Given the description of an element on the screen output the (x, y) to click on. 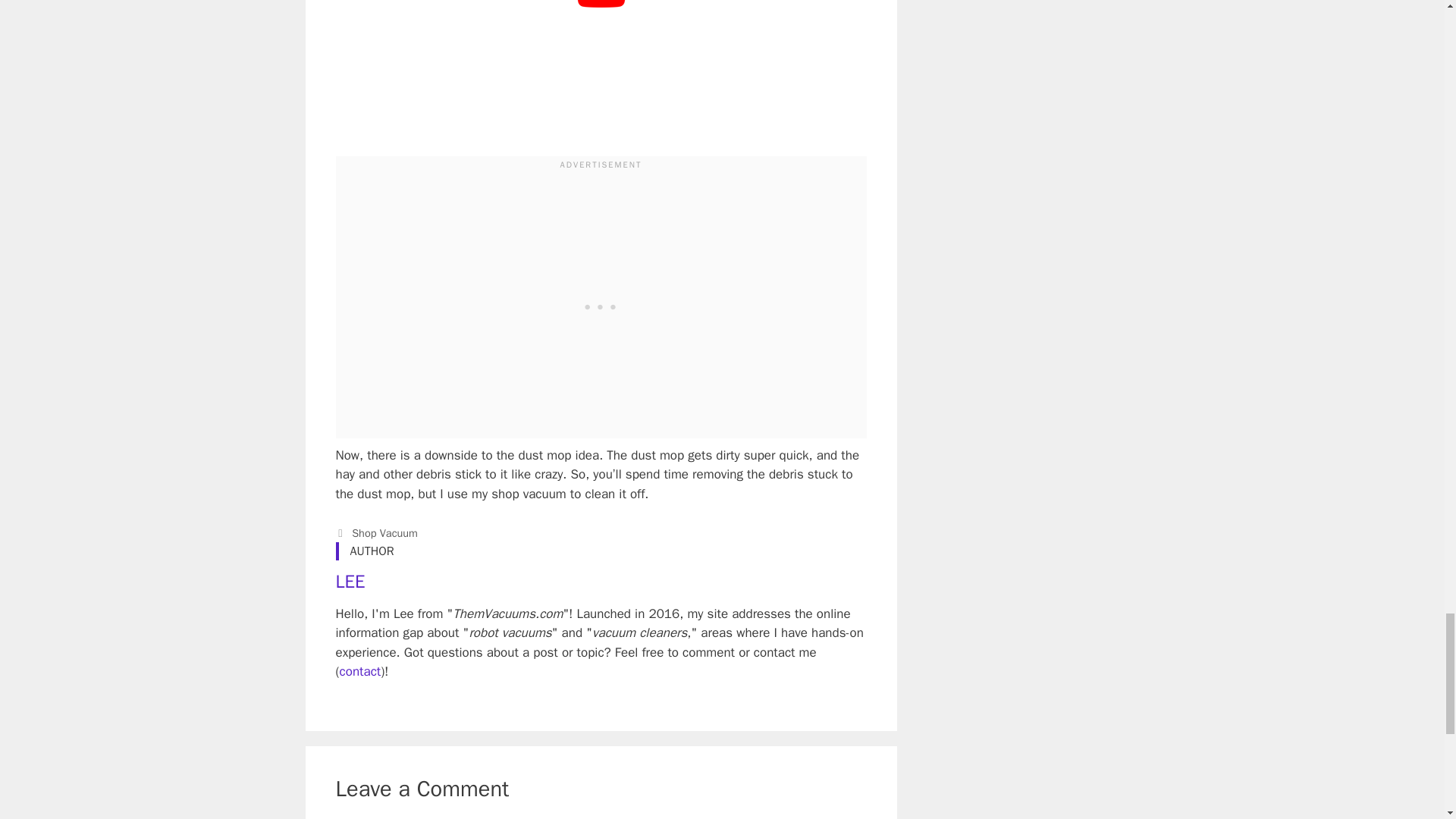
contact (360, 671)
Shop Vacuum (384, 532)
